Given the description of an element on the screen output the (x, y) to click on. 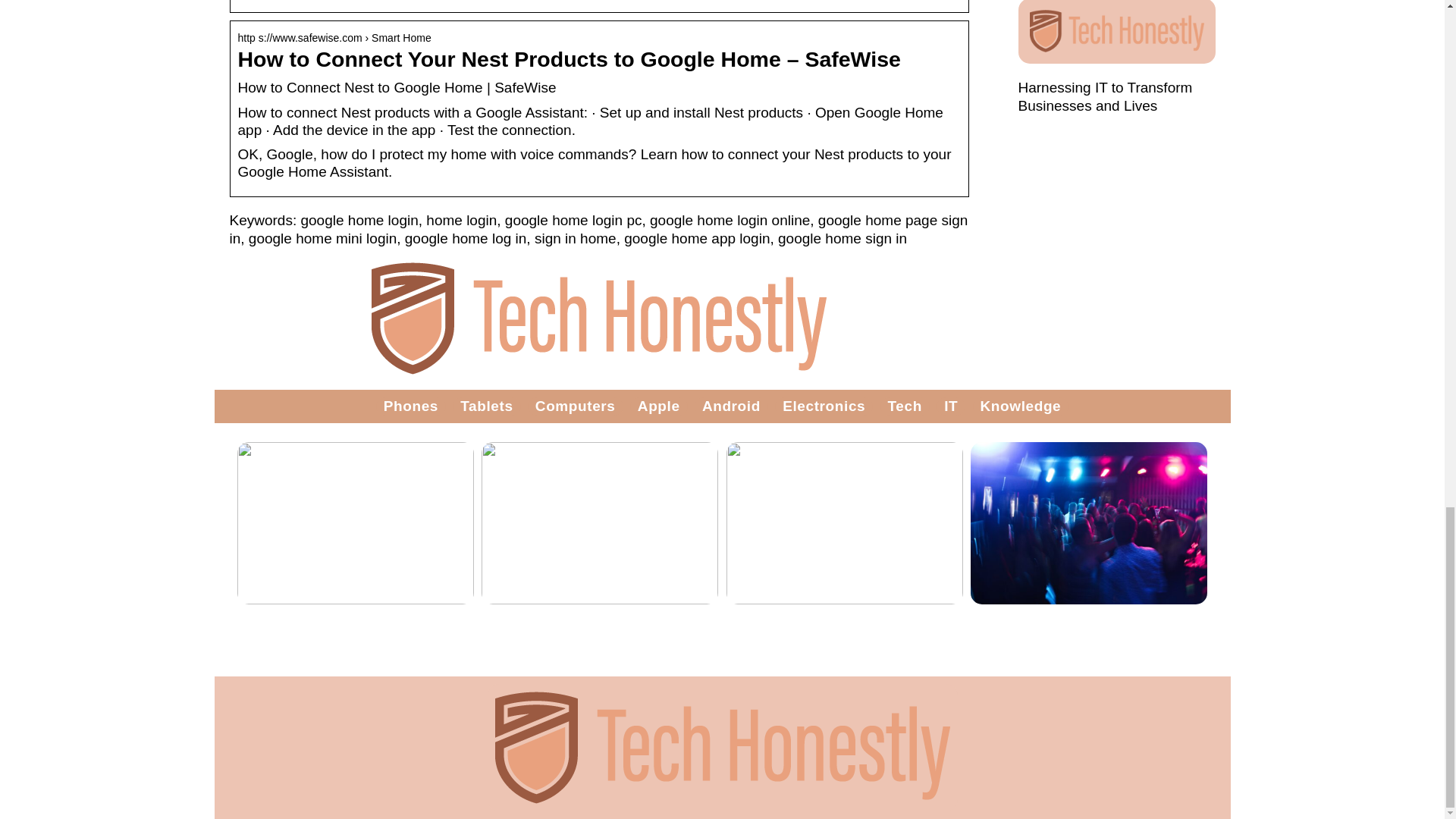
Tech (904, 406)
Android (730, 406)
Phones (411, 406)
Tablets (486, 406)
Computers (575, 406)
Electronics (823, 406)
Apple (658, 406)
Harnessing IT to Transform Businesses and Lives (1104, 96)
